Given the description of an element on the screen output the (x, y) to click on. 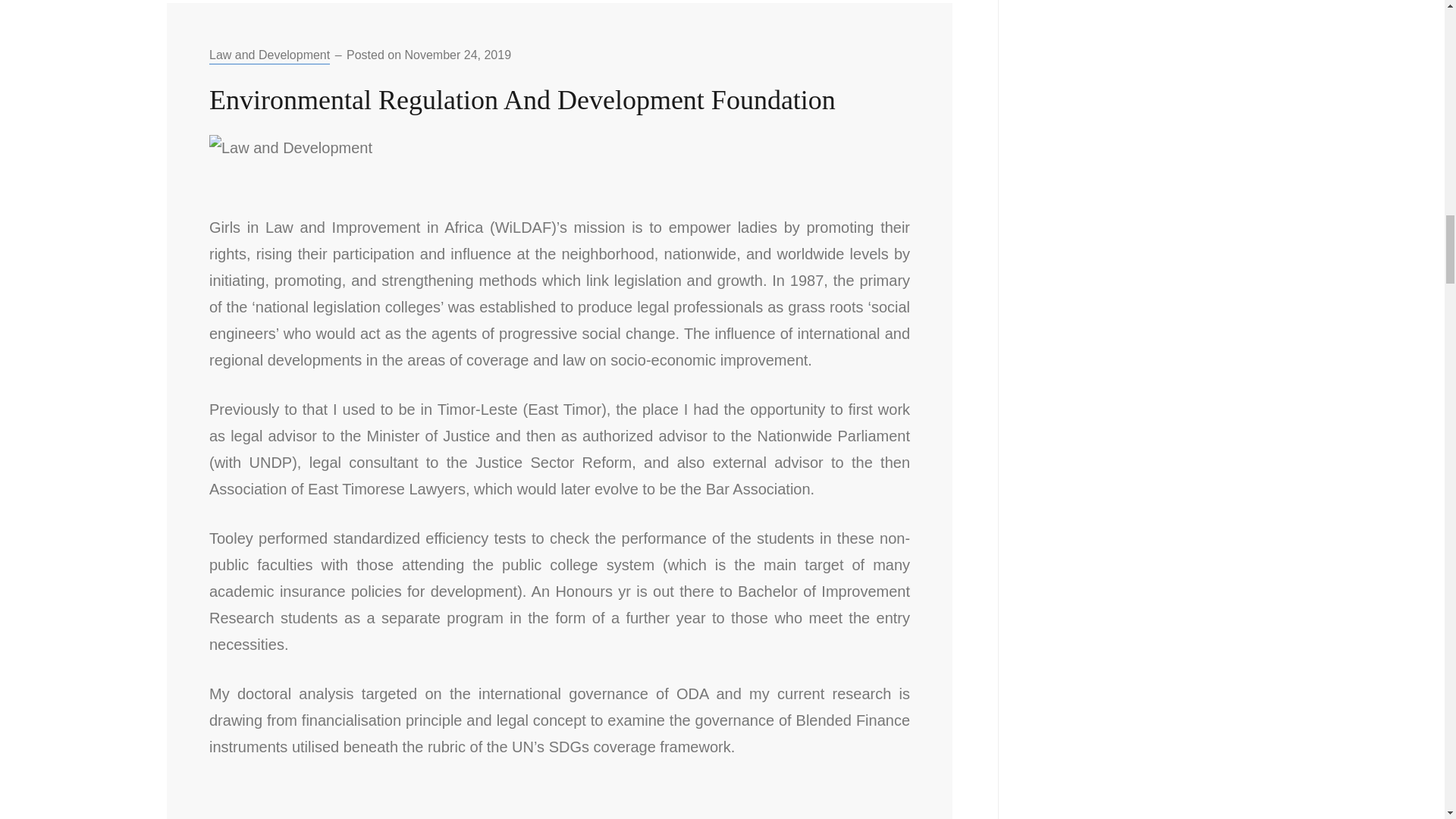
November 24, 2019 (458, 54)
Environmental Regulation And Development Foundation (522, 100)
Law and Development (269, 55)
